Given the description of an element on the screen output the (x, y) to click on. 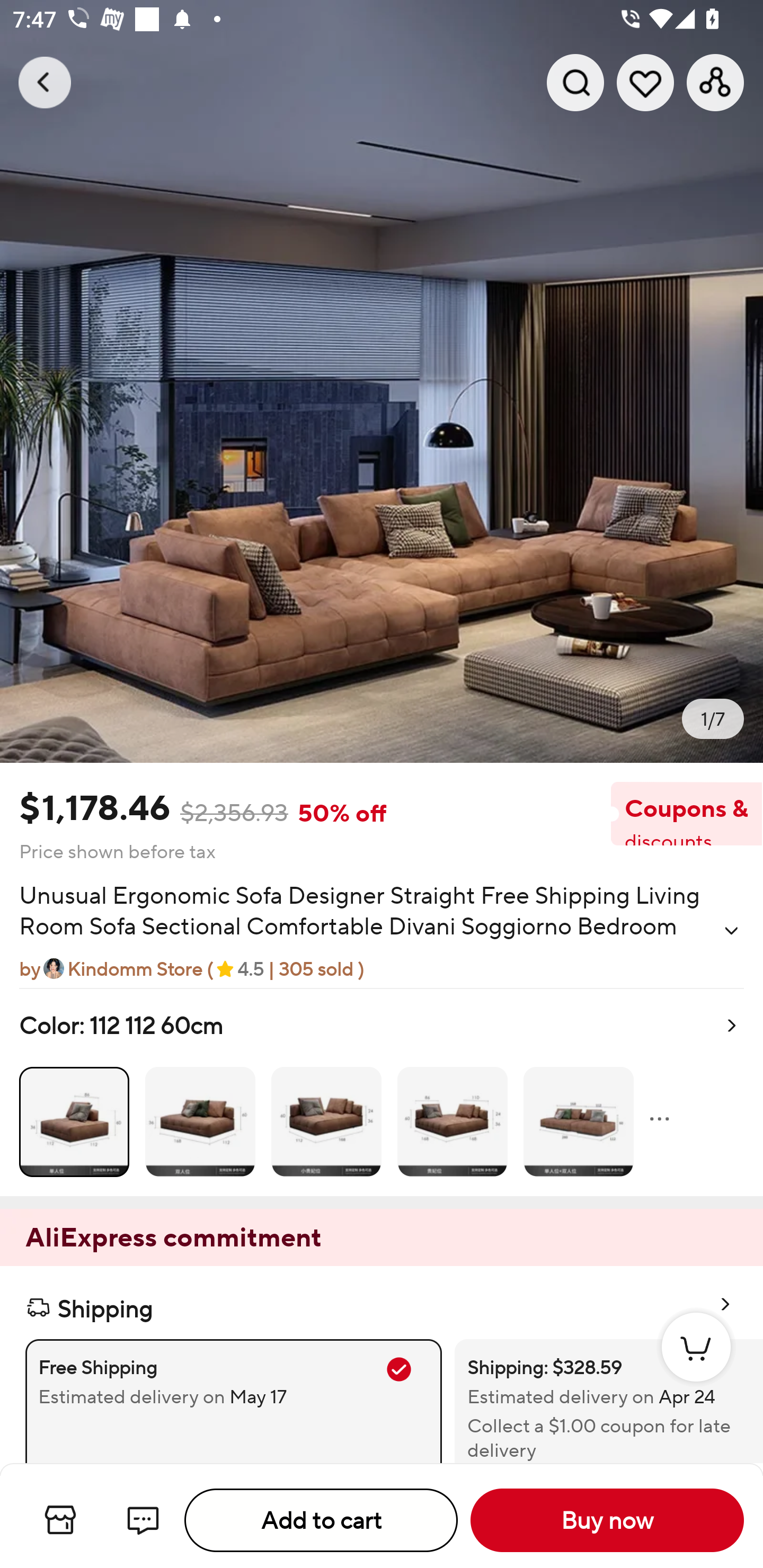
Navigate up (44, 82)
 (730, 930)
Color: 112 112 60cm  (381, 1092)
Free Shipping  Estimated delivery on May 17  (233, 1400)
Add to cart (320, 1520)
Buy now (606, 1520)
